Given the description of an element on the screen output the (x, y) to click on. 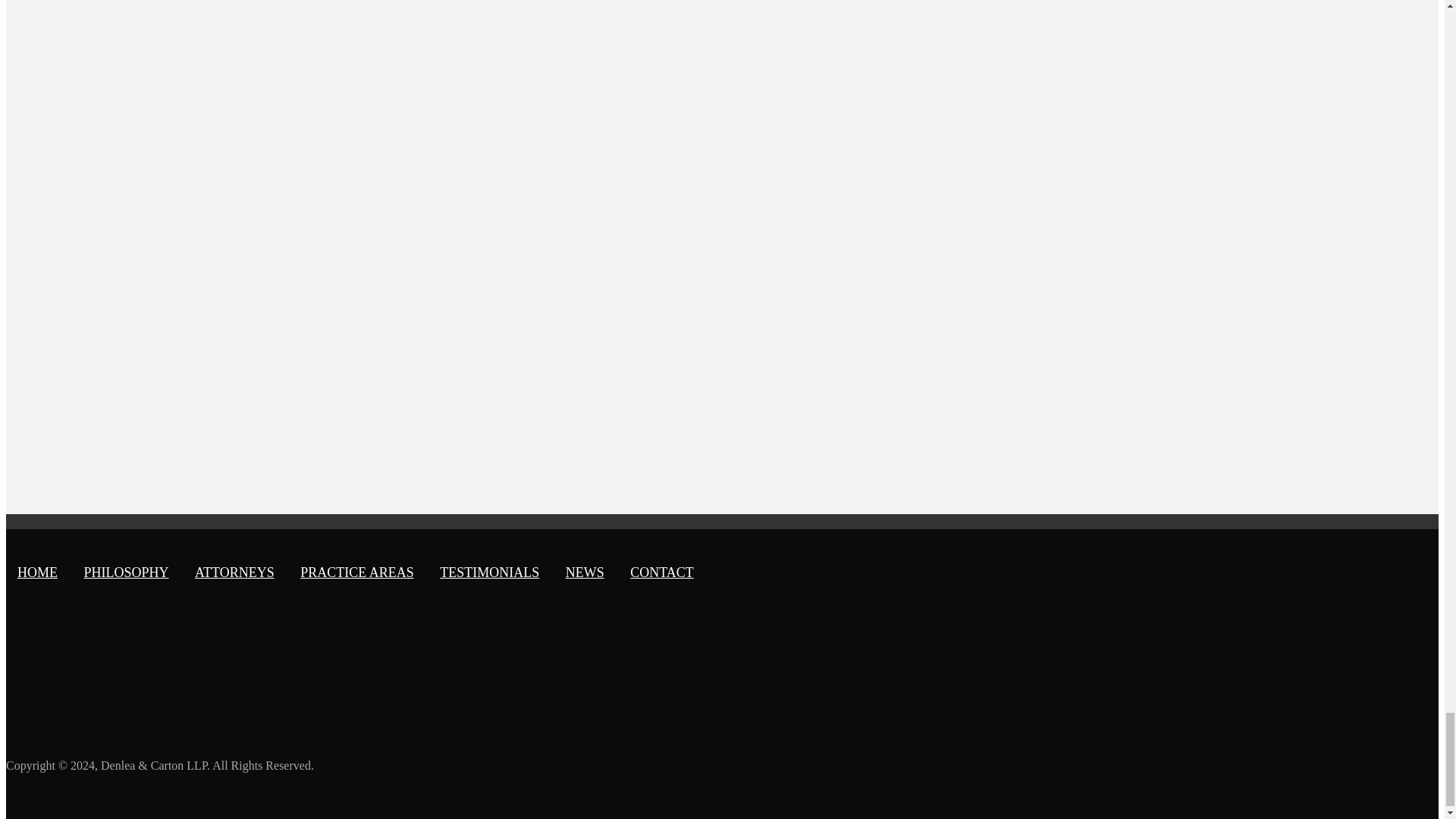
HOME (36, 572)
